Given the description of an element on the screen output the (x, y) to click on. 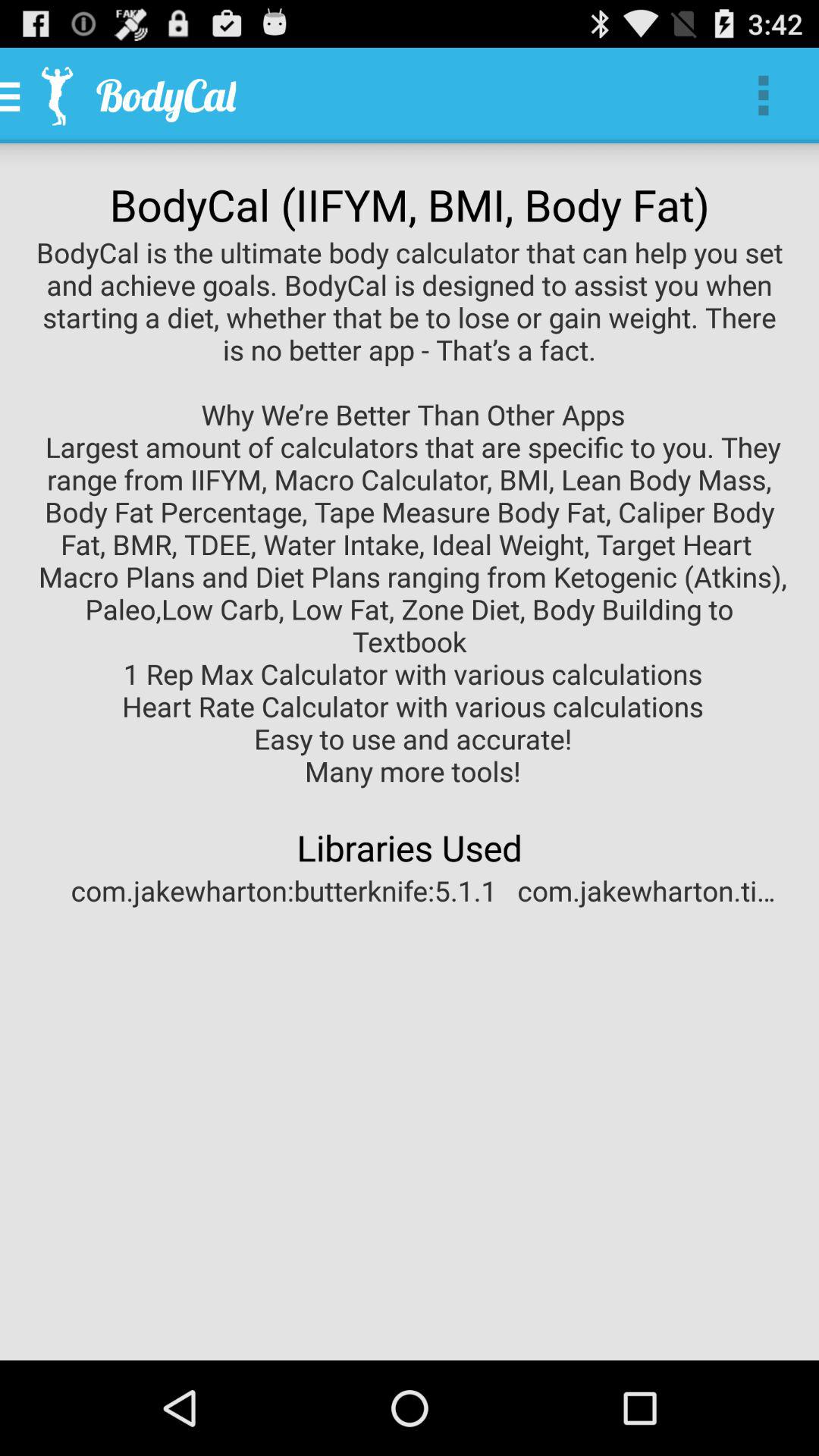
open item next to bodycal app (763, 95)
